Given the description of an element on the screen output the (x, y) to click on. 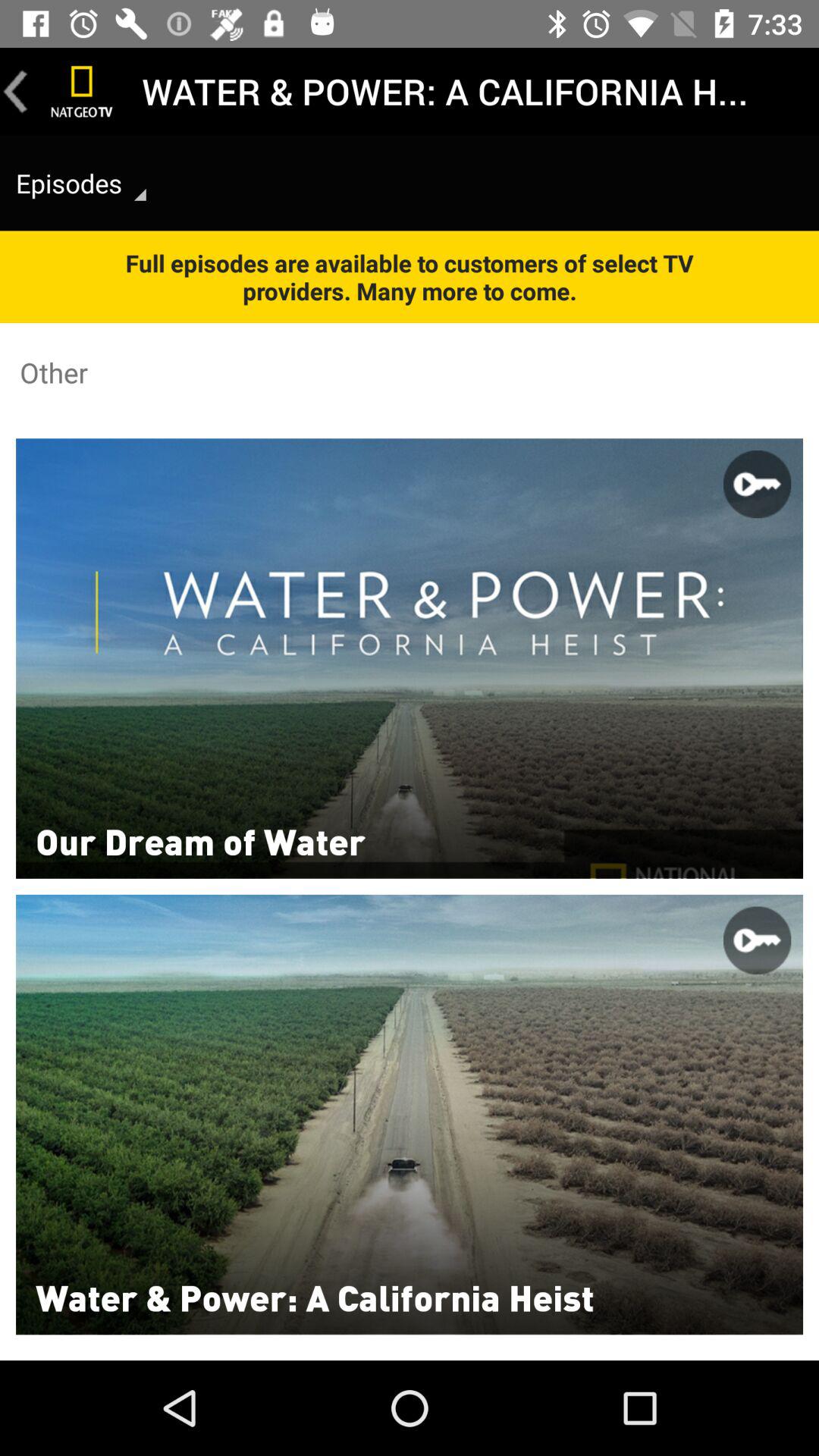
click on natgeo tv (82, 90)
select the first image of the page (409, 658)
go to the image at the bottom of the page (409, 1115)
select second key icon from top (757, 940)
select the icon which is next to the episodes (140, 194)
icon shown at the top right corner of the first image (757, 483)
